Given the description of an element on the screen output the (x, y) to click on. 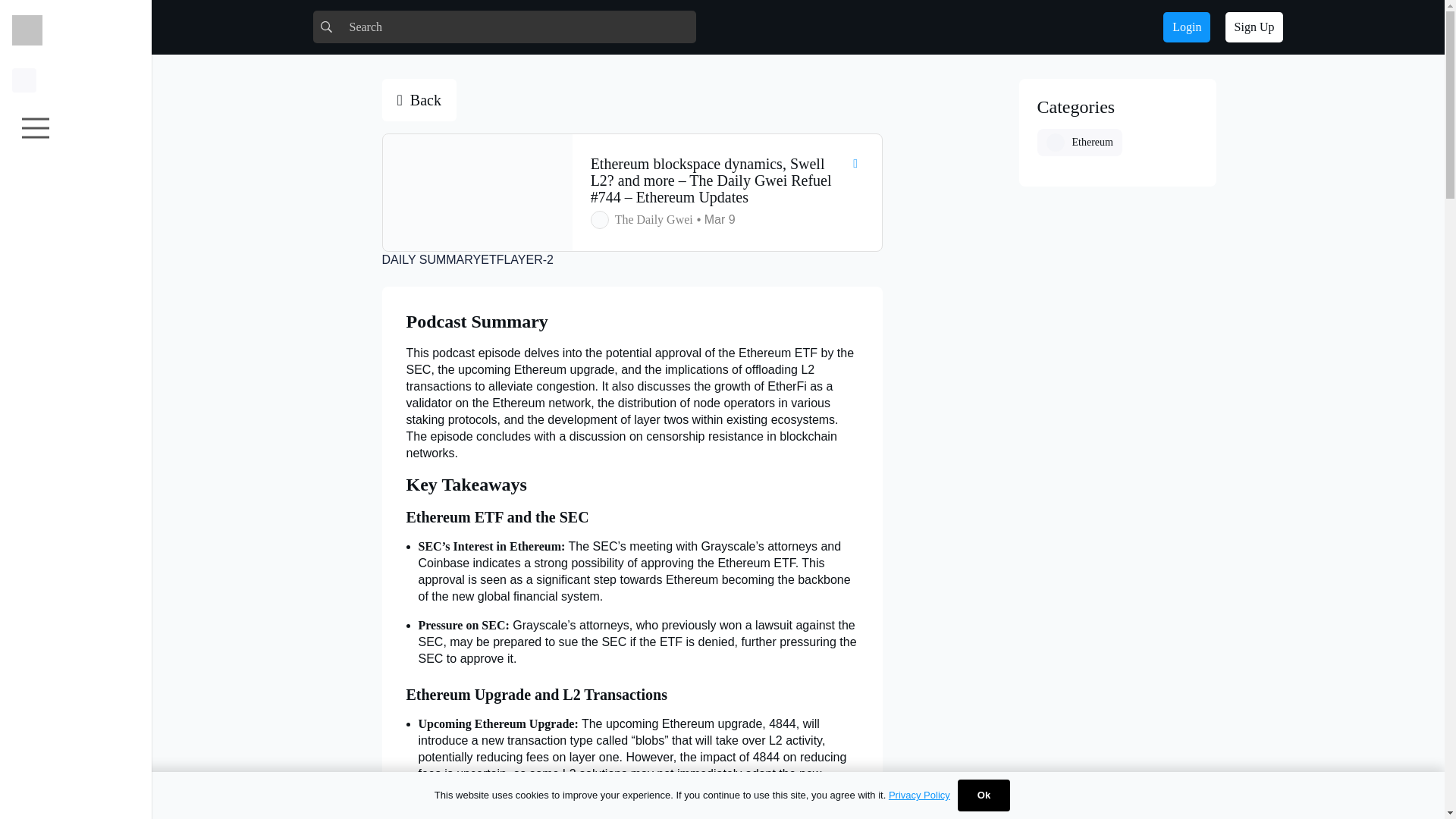
Search (504, 26)
Login (1186, 27)
DAILY SUMMARY (431, 259)
Ethereum (1079, 142)
LAYER-2 (528, 259)
The Daily Gwei (653, 219)
Ethereum (1079, 142)
ETF (491, 259)
Sign Up (1254, 27)
Back (419, 99)
